Given the description of an element on the screen output the (x, y) to click on. 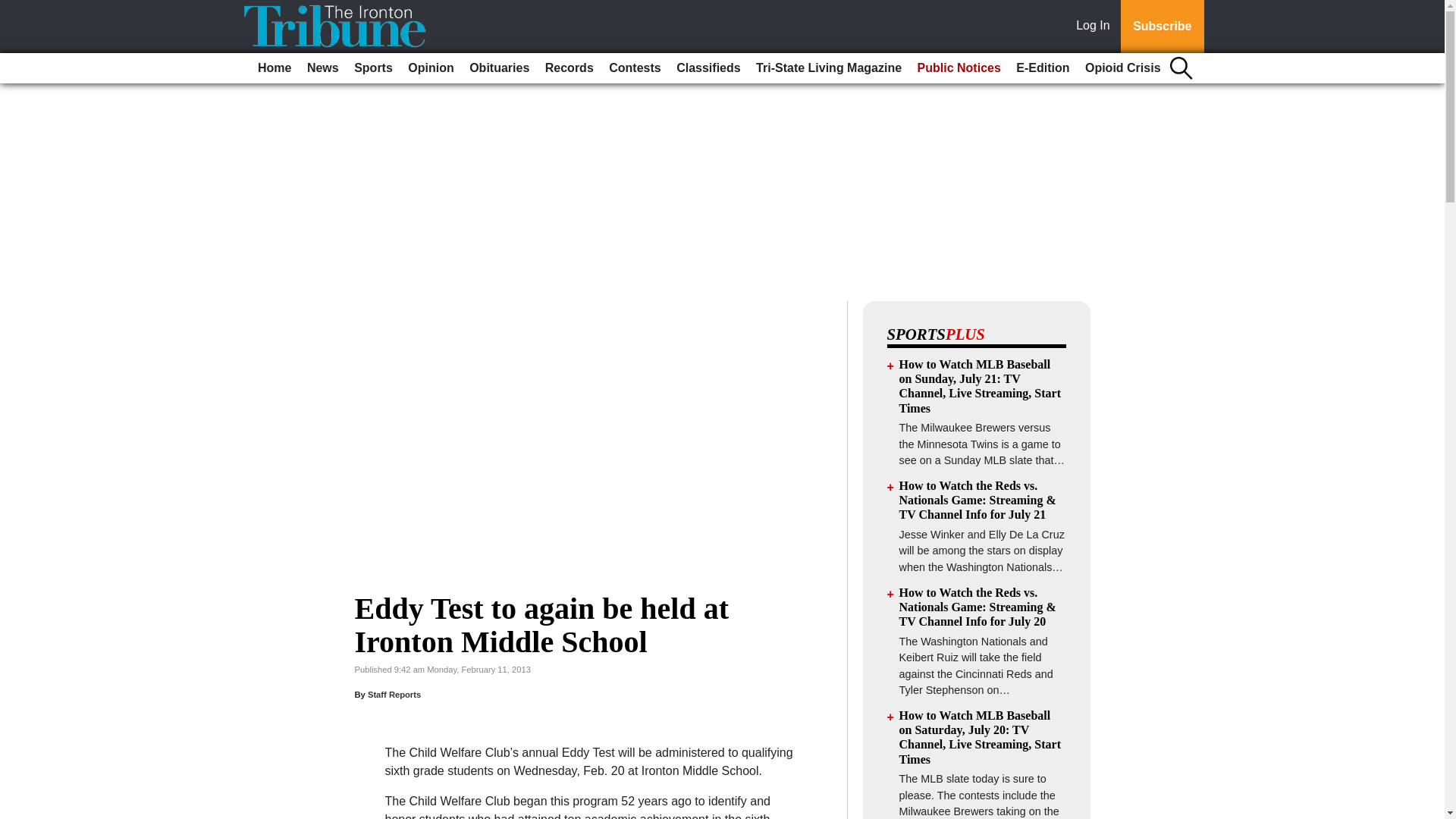
Records (568, 68)
Home (274, 68)
Sports (372, 68)
Contests (634, 68)
Staff Reports (394, 694)
News (323, 68)
Obituaries (499, 68)
Opioid Crisis (1122, 68)
Public Notices (959, 68)
Classifieds (707, 68)
Go (13, 9)
E-Edition (1042, 68)
Tri-State Living Magazine (828, 68)
Subscribe (1162, 26)
